Given the description of an element on the screen output the (x, y) to click on. 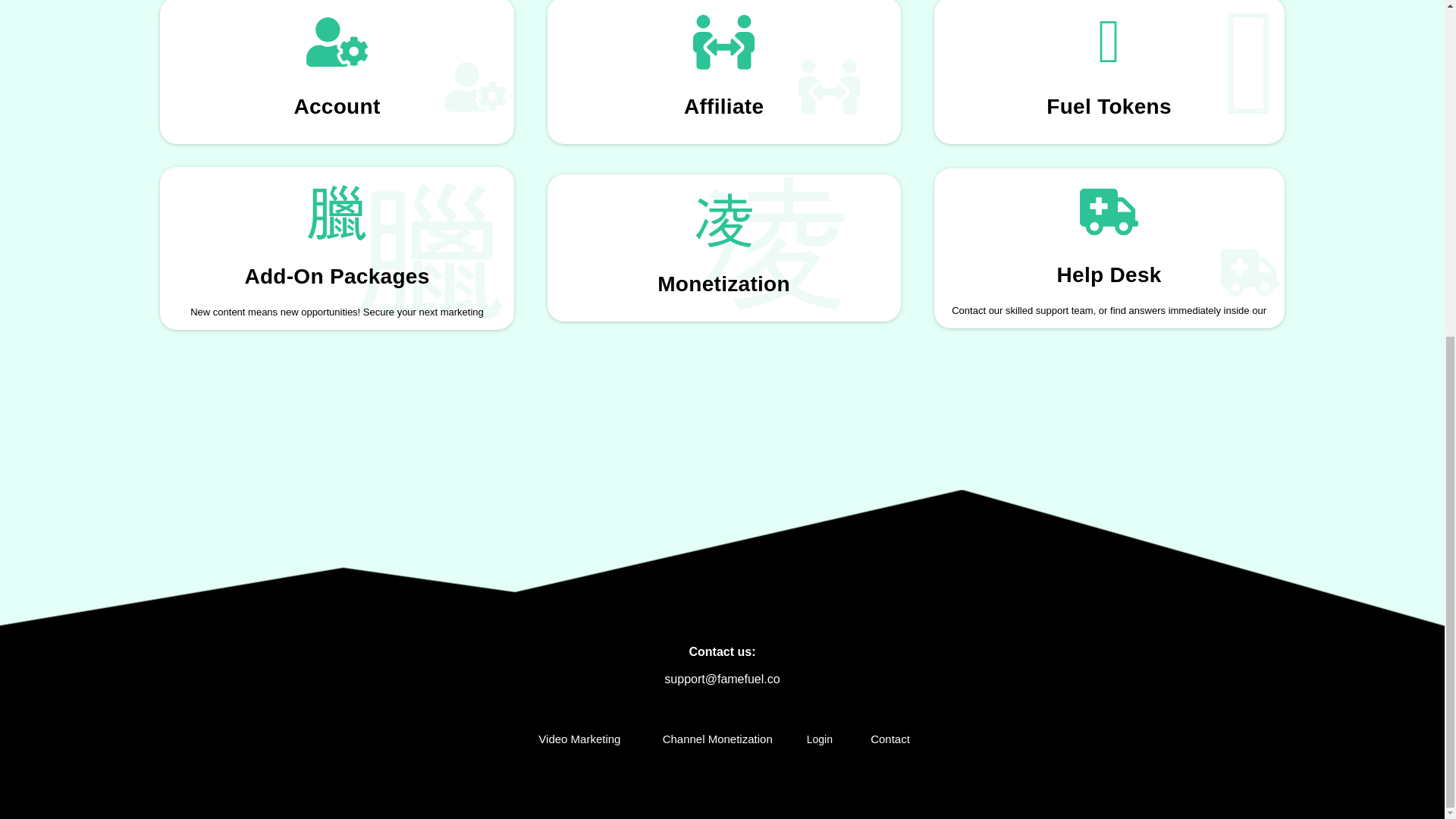
Contact (887, 739)
Video Marketing (577, 739)
Channel Monetization (714, 739)
Login (819, 739)
